Given the description of an element on the screen output the (x, y) to click on. 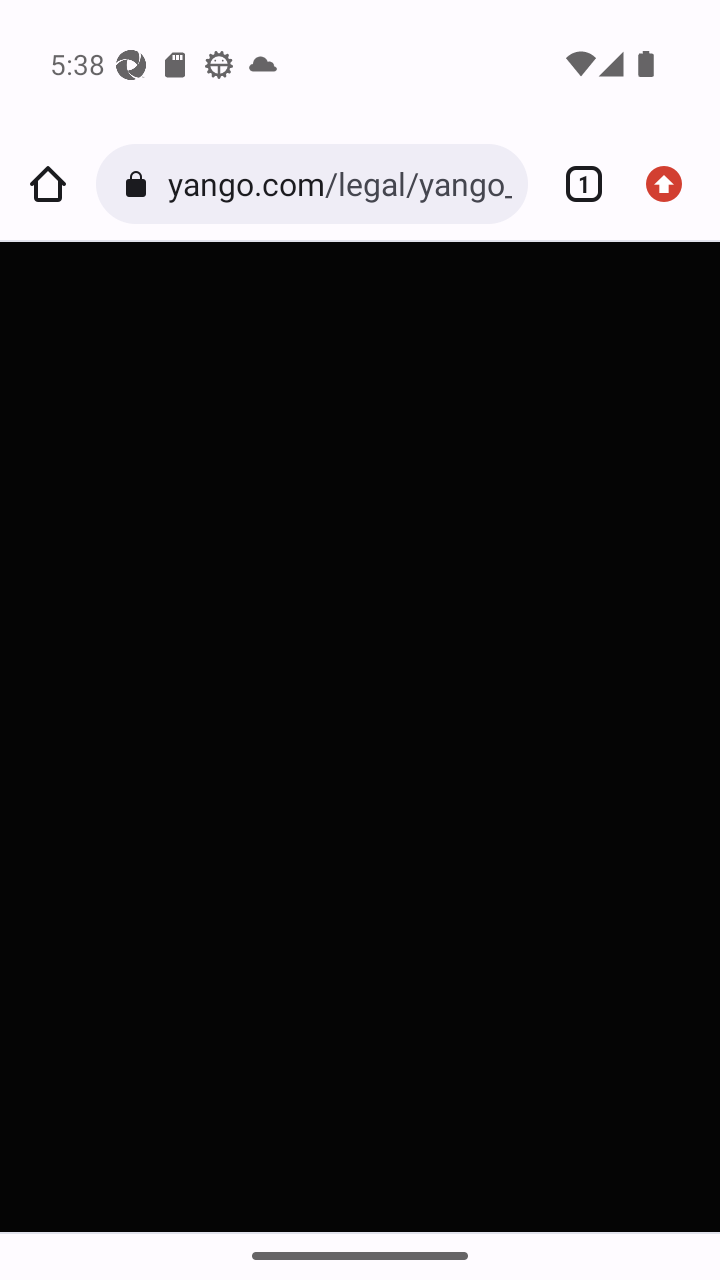
Home (47, 184)
Connection is secure (139, 184)
Switch or close tabs (575, 184)
Update available. More options (672, 184)
